Given the description of an element on the screen output the (x, y) to click on. 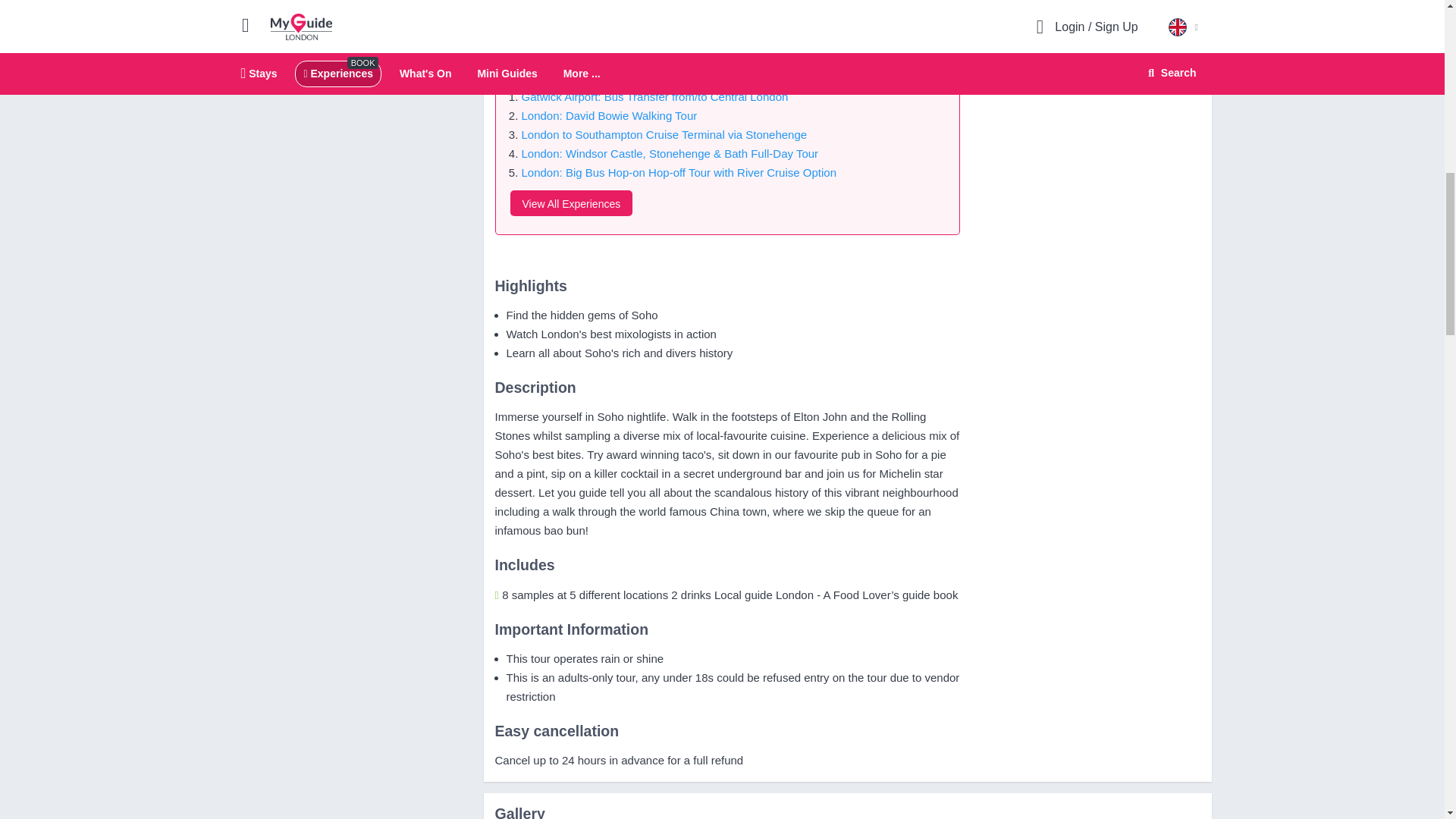
View All Experiences (570, 203)
